Given the description of an element on the screen output the (x, y) to click on. 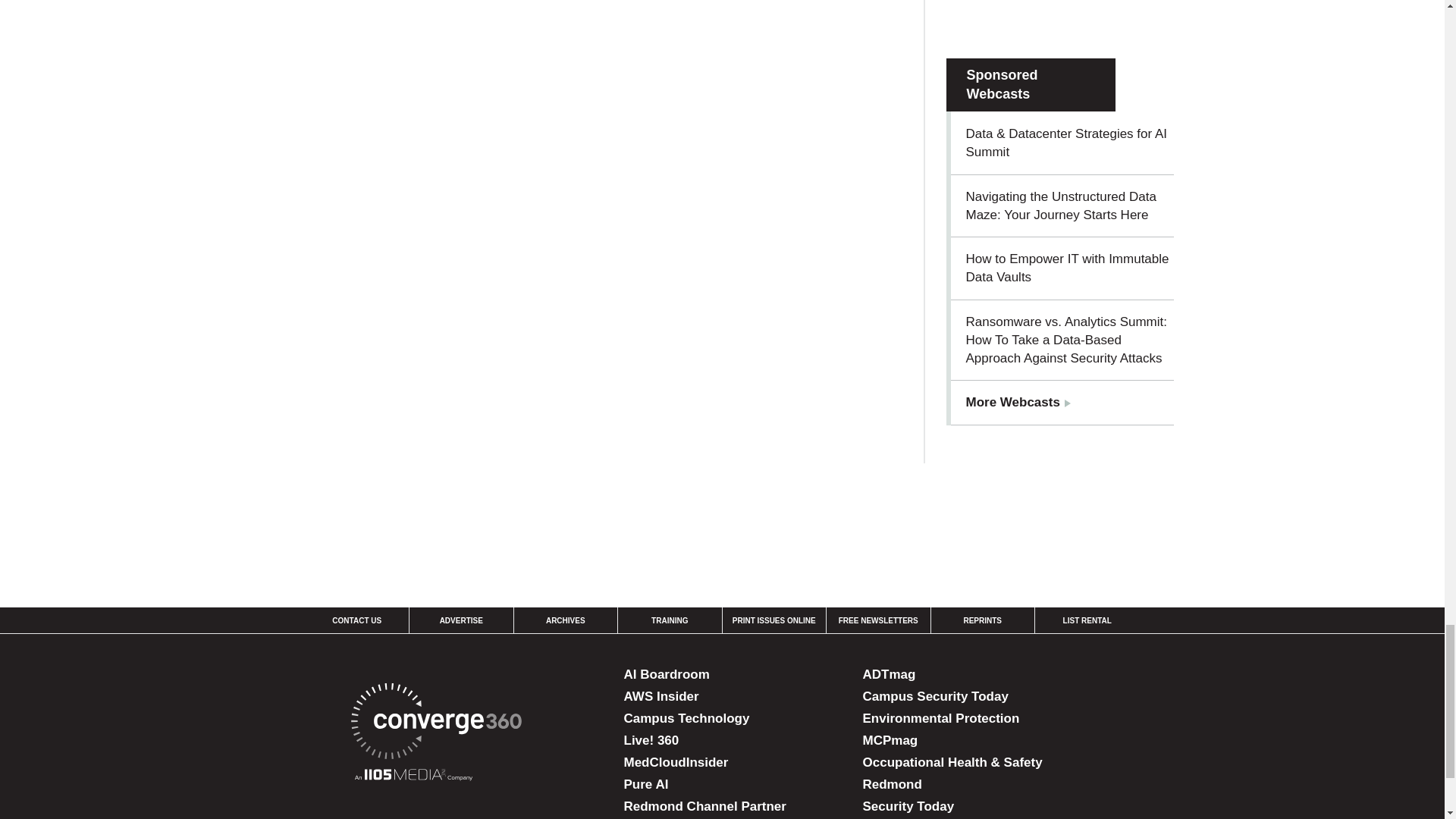
3rd party ad content (721, 516)
3rd party ad content (1059, 10)
